Given the description of an element on the screen output the (x, y) to click on. 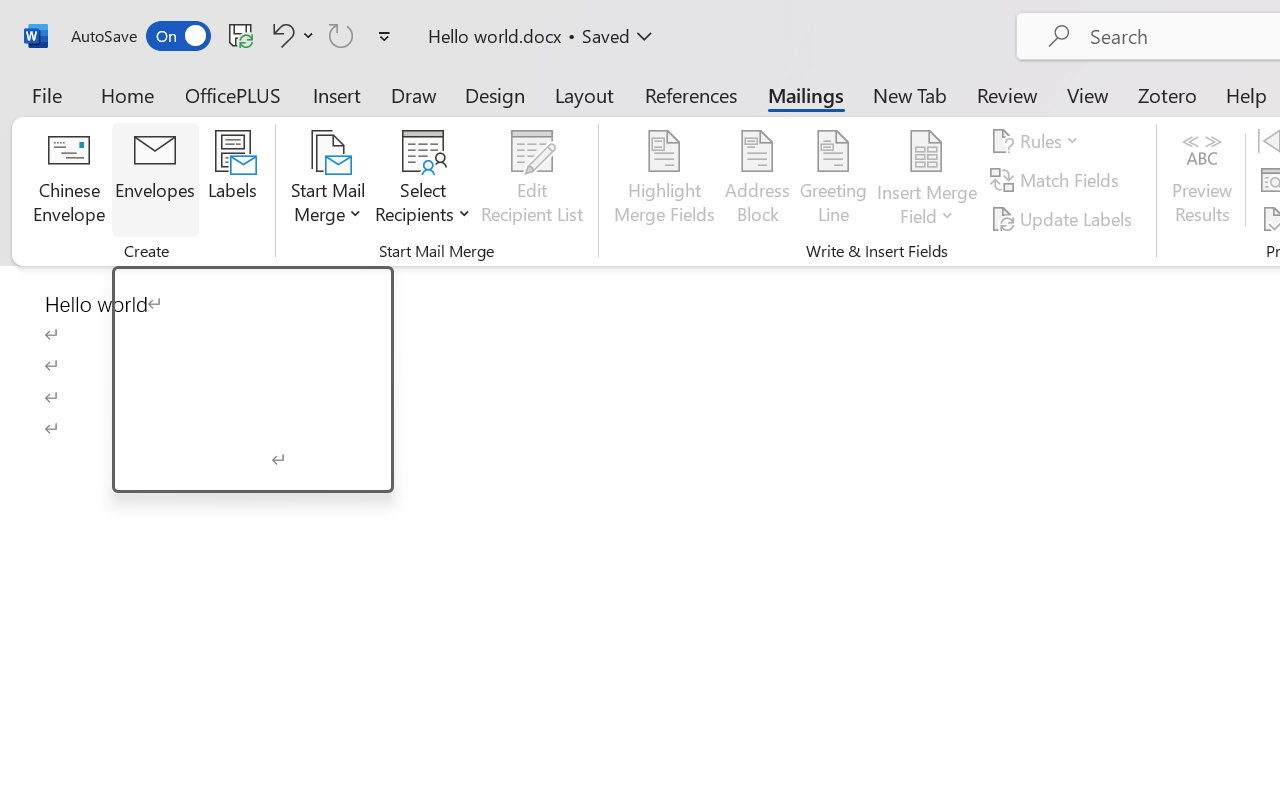
Save (241, 35)
Envelopes... (155, 179)
Quick Access Toolbar (233, 36)
Draw (413, 94)
Review (1007, 94)
Chinese Envelope... (68, 179)
Update Labels (1064, 218)
Address Block... (757, 179)
Labels... (232, 179)
Class: NetUIImage (140, 471)
File Tab (46, 94)
